Given the description of an element on the screen output the (x, y) to click on. 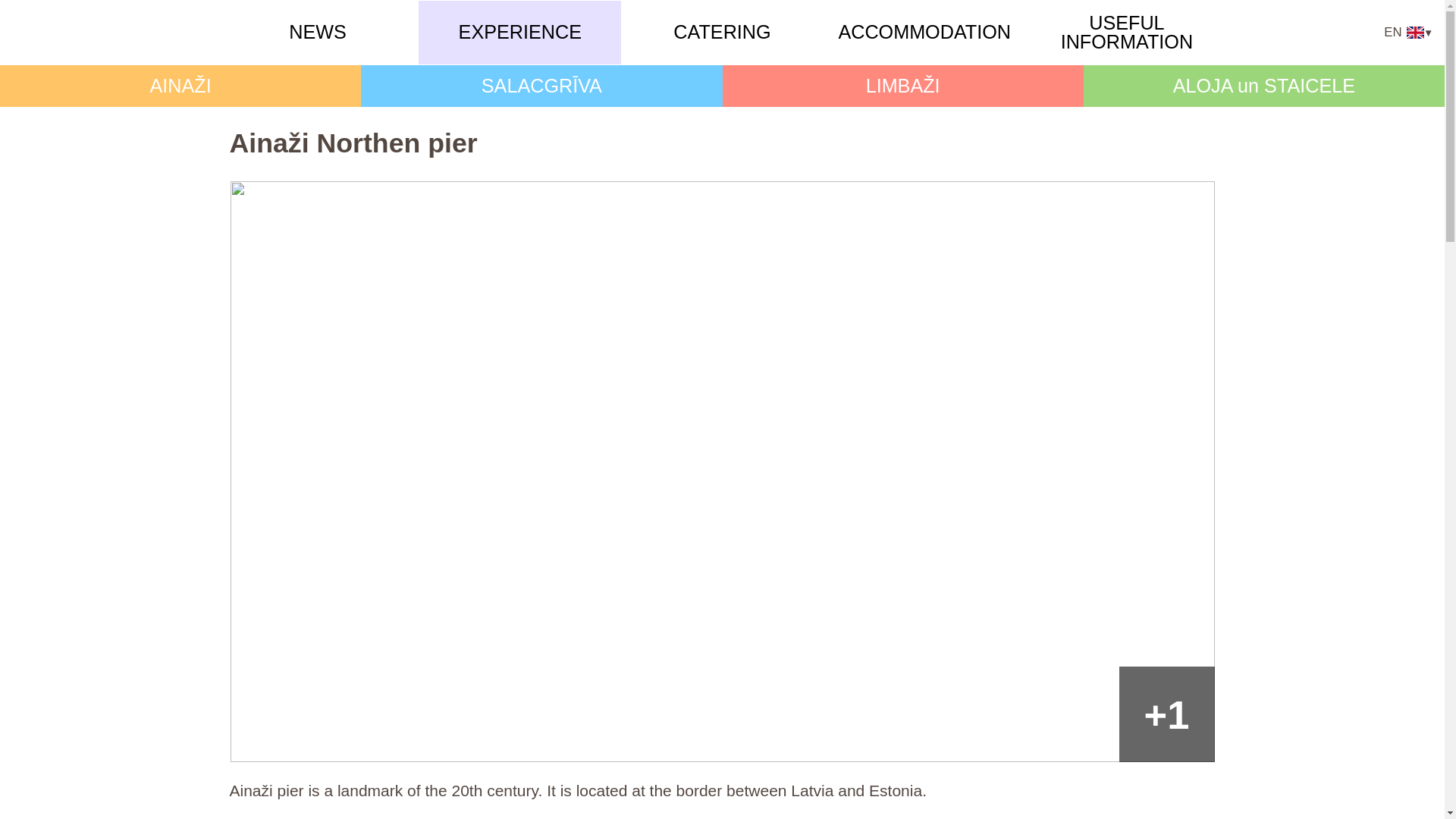
ACCOMMODATION (924, 31)
USEFUL INFORMATION (1126, 32)
on (1408, 32)
CATERING (721, 31)
ALOJA un STAICELE (1264, 85)
NEWS (317, 31)
EXPERIENCE (519, 31)
